Given the description of an element on the screen output the (x, y) to click on. 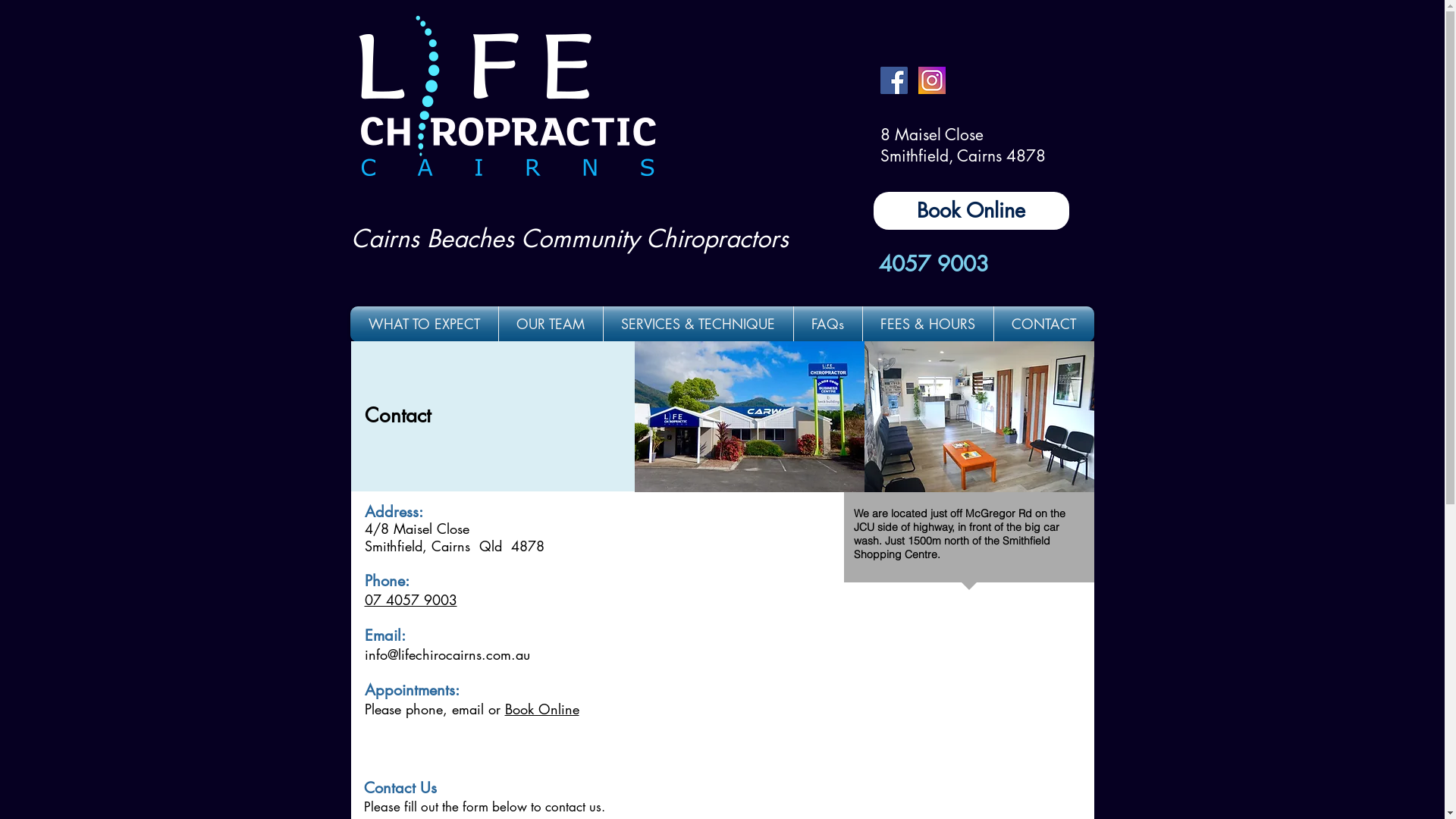
info@lifechirocairns.com.au Element type: text (446, 654)
Book Online Element type: text (542, 708)
WHAT TO EXPECT Element type: text (424, 324)
OUR TEAM Element type: text (550, 324)
07 4057 9003 Element type: text (410, 599)
SERVICES & TECHNIQUE Element type: text (698, 324)
CONTACT Element type: text (1043, 324)
FEES & HOURS Element type: text (927, 324)
Book Online Element type: text (971, 210)
Life Chiropractic Cairns logo Element type: hover (507, 97)
4057 9003 Element type: text (933, 264)
FAQs Element type: text (827, 324)
